Given the description of an element on the screen output the (x, y) to click on. 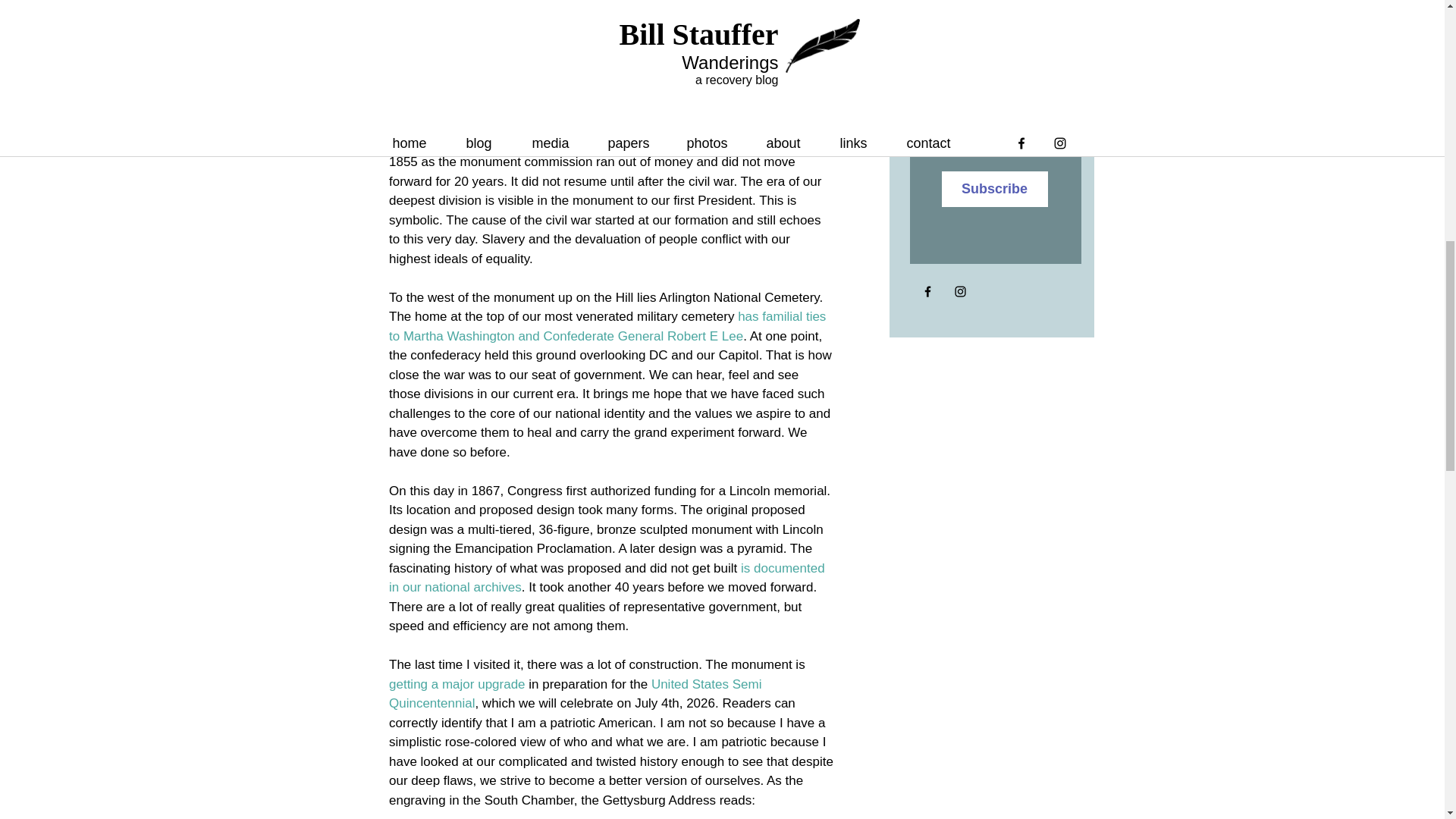
is documented in our national archives (607, 578)
getting a major upgrade (456, 683)
 are made from two different colors (607, 132)
United States Semi Quincentennial (576, 693)
